Given the description of an element on the screen output the (x, y) to click on. 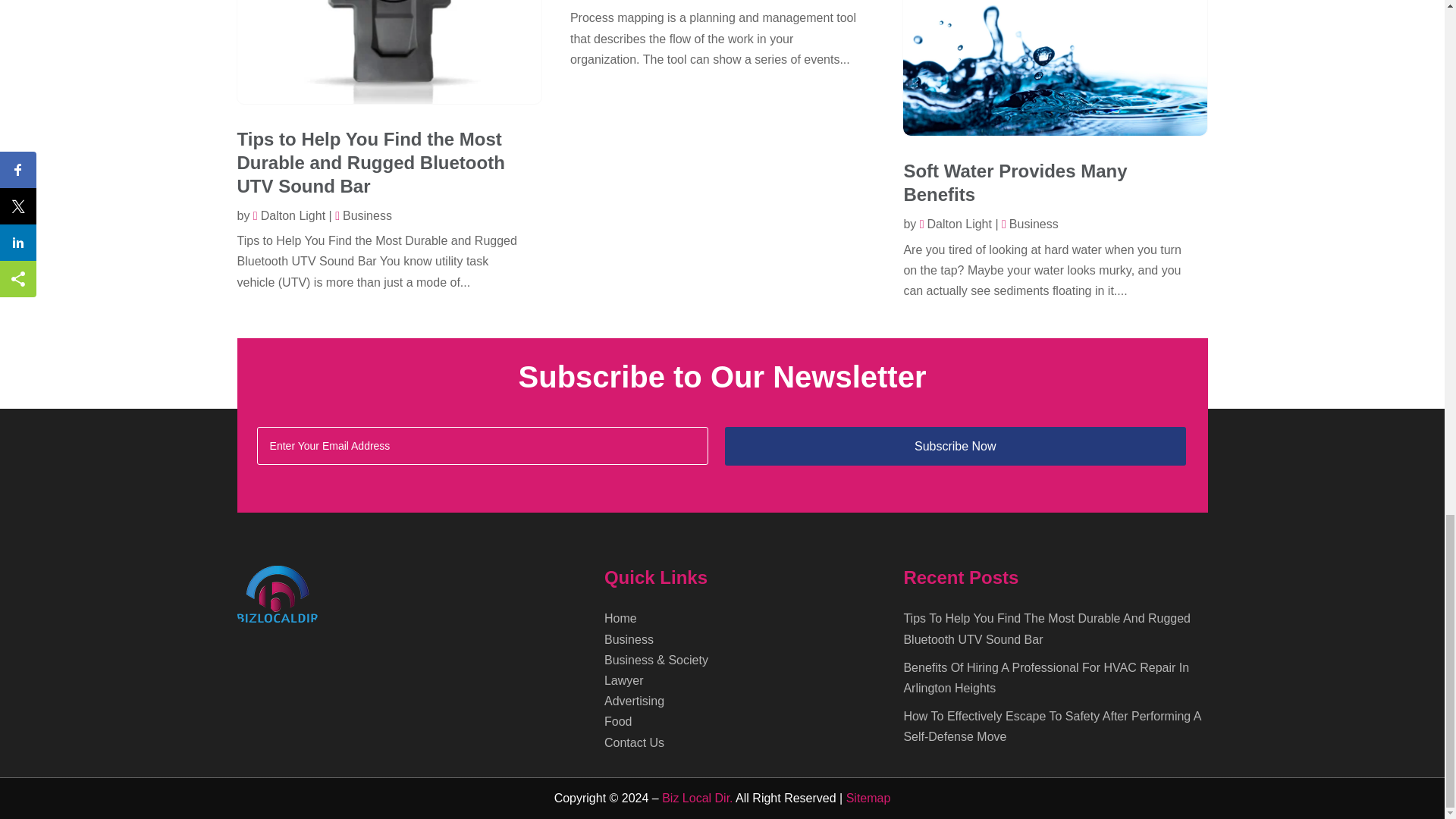
Posts by Dalton Light (288, 215)
Biz Local Dir - Footer Logo (276, 593)
Posts by Dalton Light (955, 223)
